Given the description of an element on the screen output the (x, y) to click on. 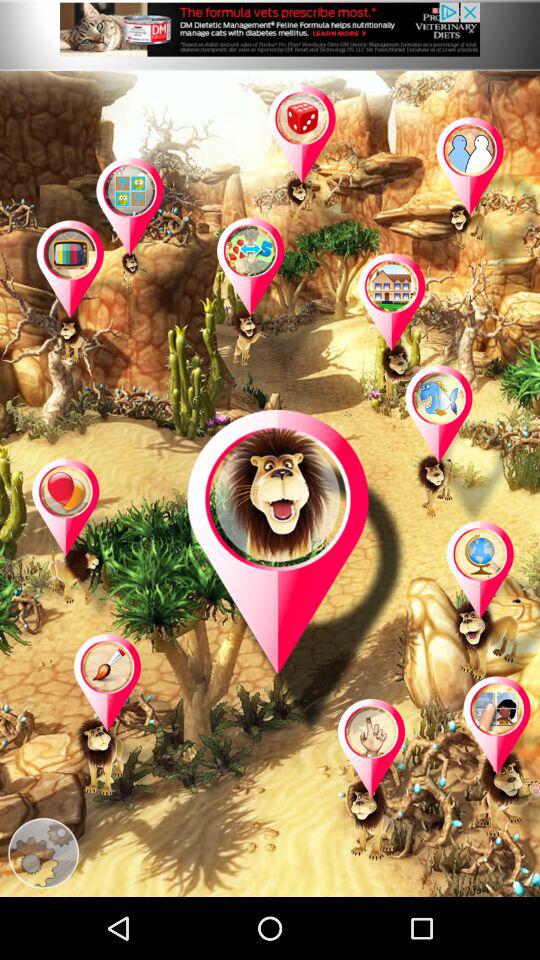
navigate to location (496, 758)
